Given the description of an element on the screen output the (x, y) to click on. 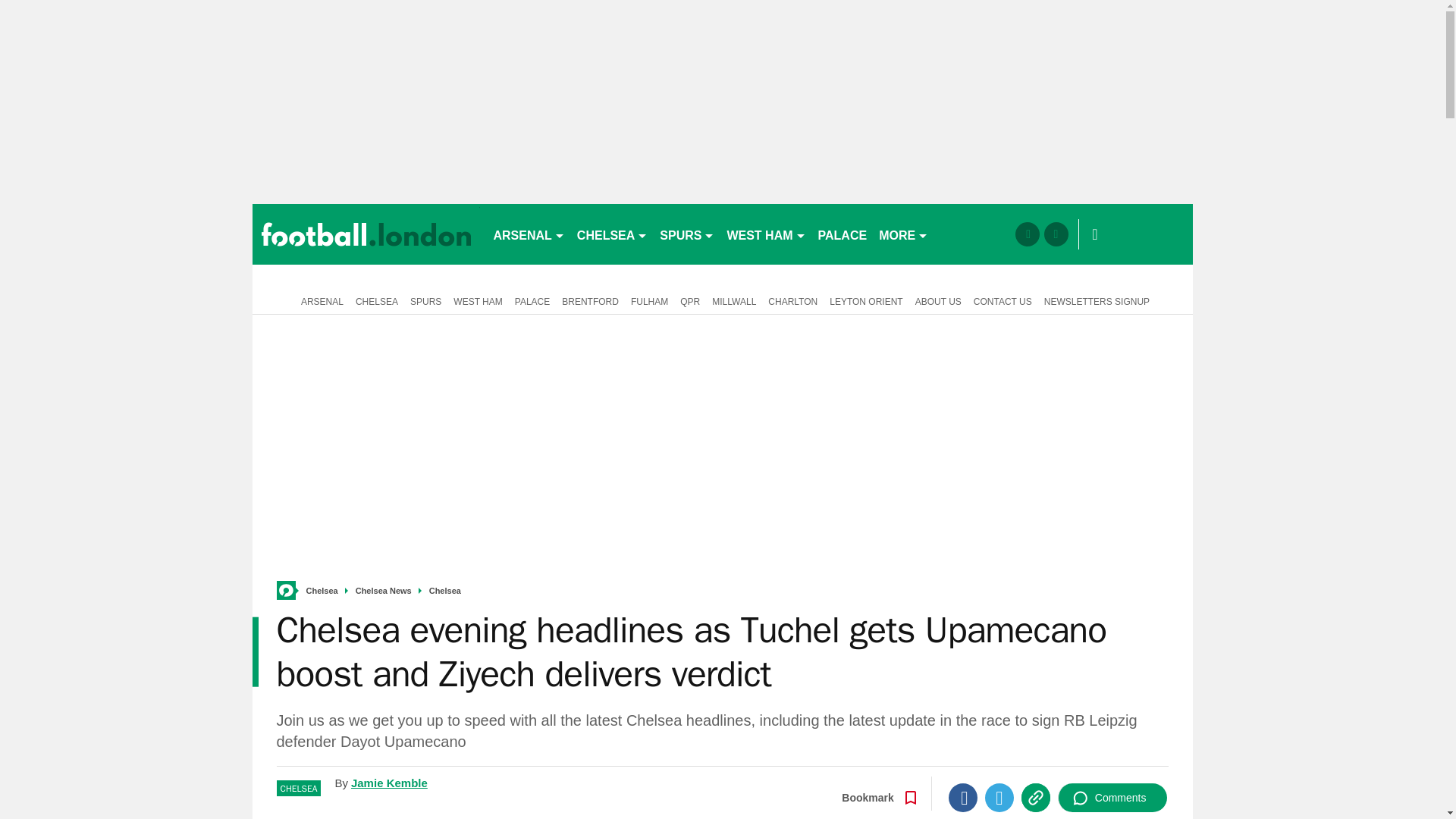
footballlondon (365, 233)
SPURS (686, 233)
CHELSEA (611, 233)
Comments (1112, 797)
ARSENAL (528, 233)
WEST HAM (765, 233)
MORE (903, 233)
twitter (1055, 233)
facebook (1026, 233)
Facebook (962, 797)
PALACE (842, 233)
Twitter (999, 797)
